Given the description of an element on the screen output the (x, y) to click on. 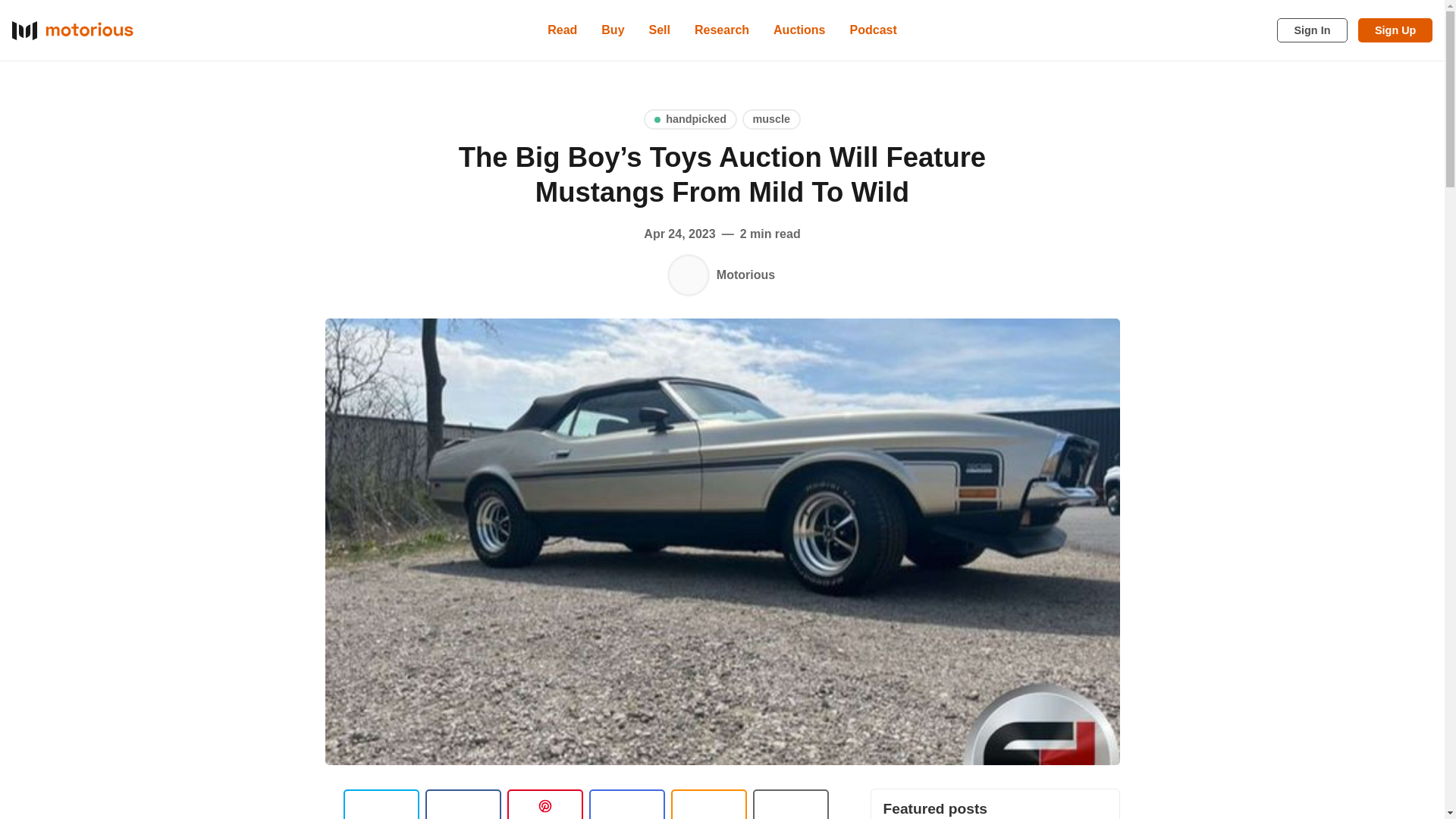
muscle (771, 118)
Motorious (688, 275)
Research (721, 29)
Auctions (799, 29)
Share by email (625, 804)
Motorious (745, 274)
handpicked (689, 118)
Read (562, 29)
Share on Twitter (380, 804)
Podcast (873, 29)
